Given the description of an element on the screen output the (x, y) to click on. 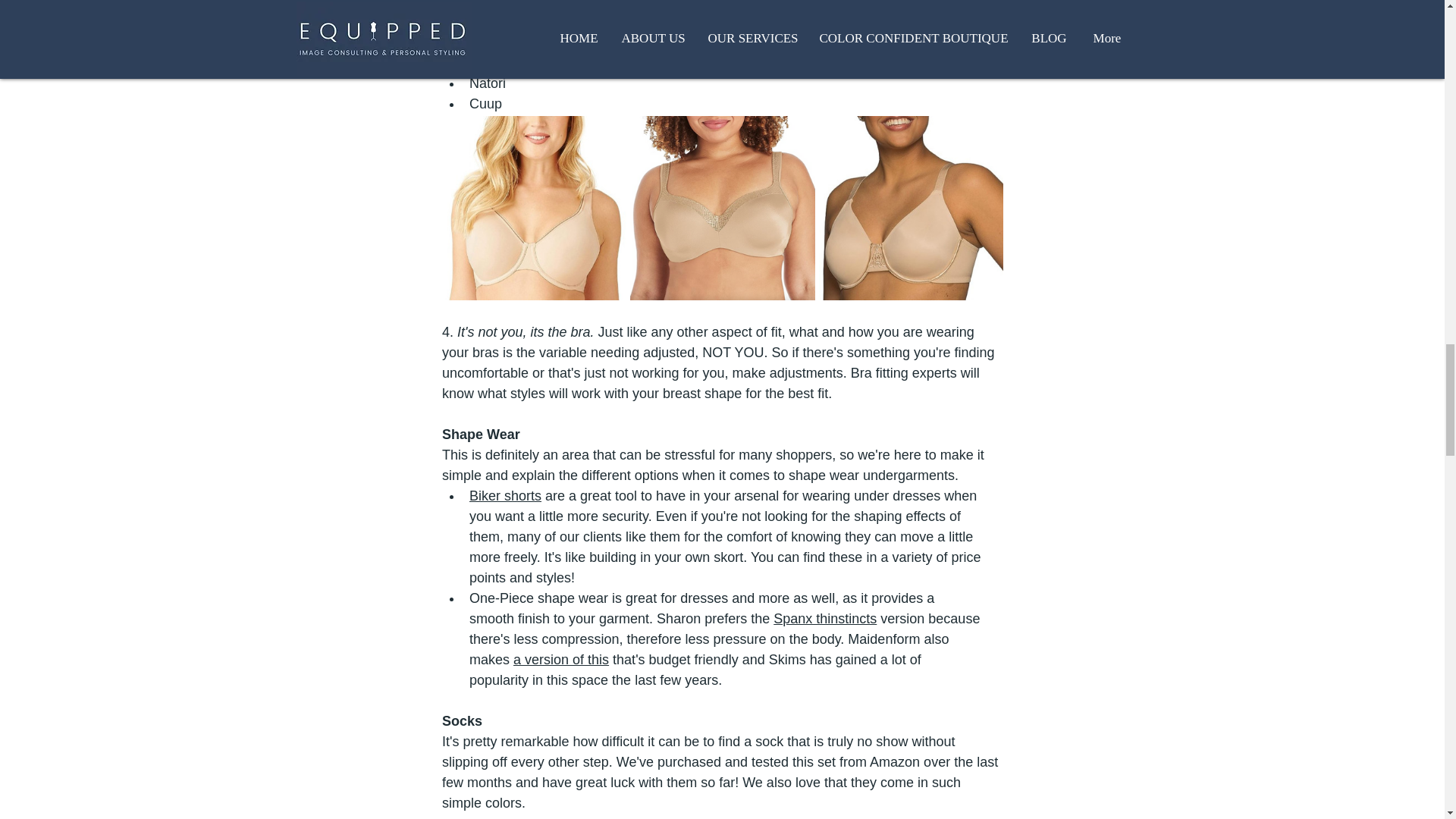
Spanx thinstincts (824, 618)
Biker shorts (504, 495)
a version of this (560, 659)
